Given the description of an element on the screen output the (x, y) to click on. 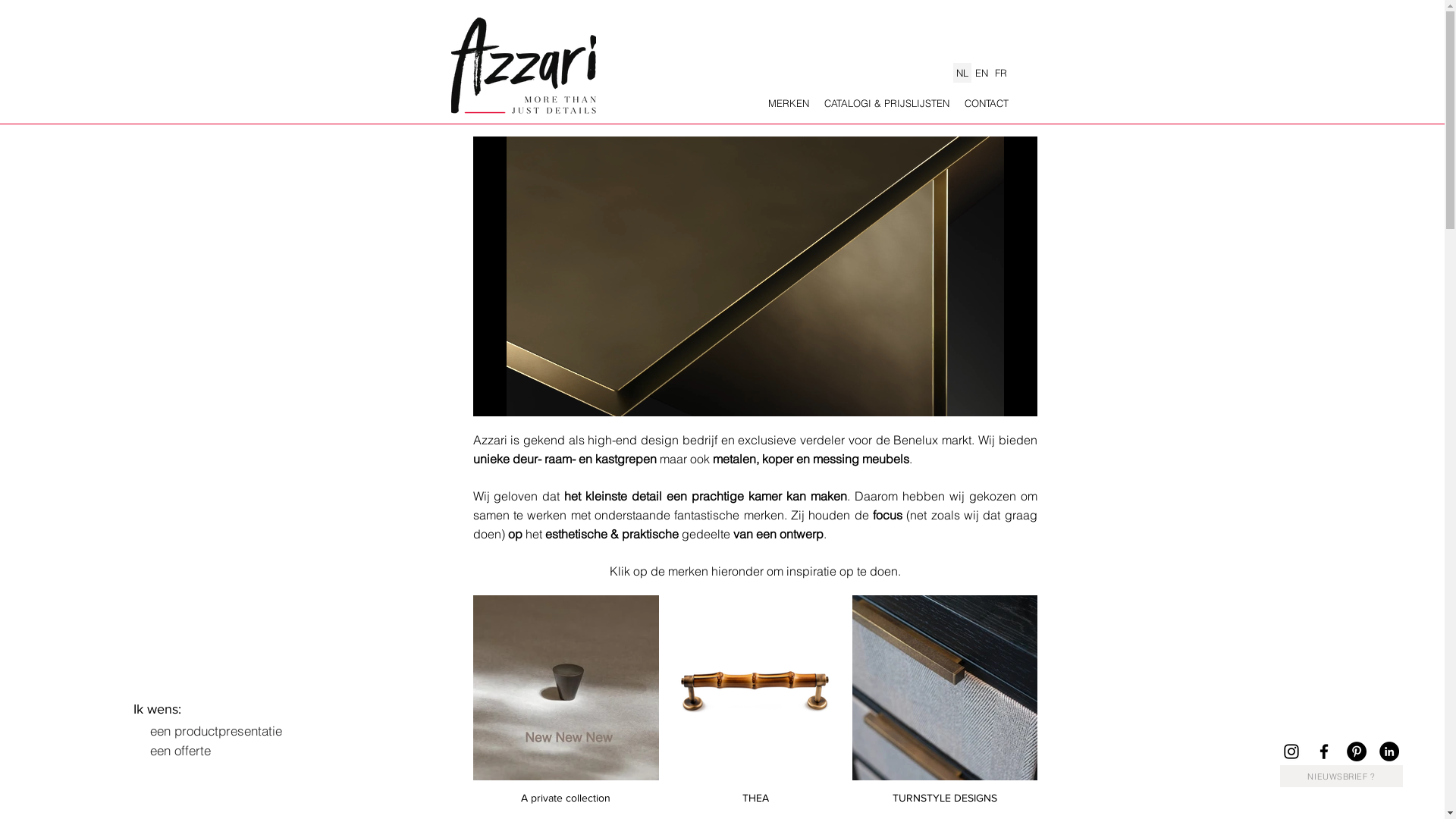
EN Element type: text (980, 72)
een productpresentatie Element type: text (215, 730)
CATALOGI & PRIJSLIJSTEN Element type: text (885, 103)
FR Element type: text (999, 72)
NL Element type: text (961, 72)
een offerte Element type: text (180, 750)
CONTACT Element type: text (986, 103)
MERKEN Element type: text (787, 103)
NIEUWSBRIEF ? Element type: text (1341, 776)
